Given the description of an element on the screen output the (x, y) to click on. 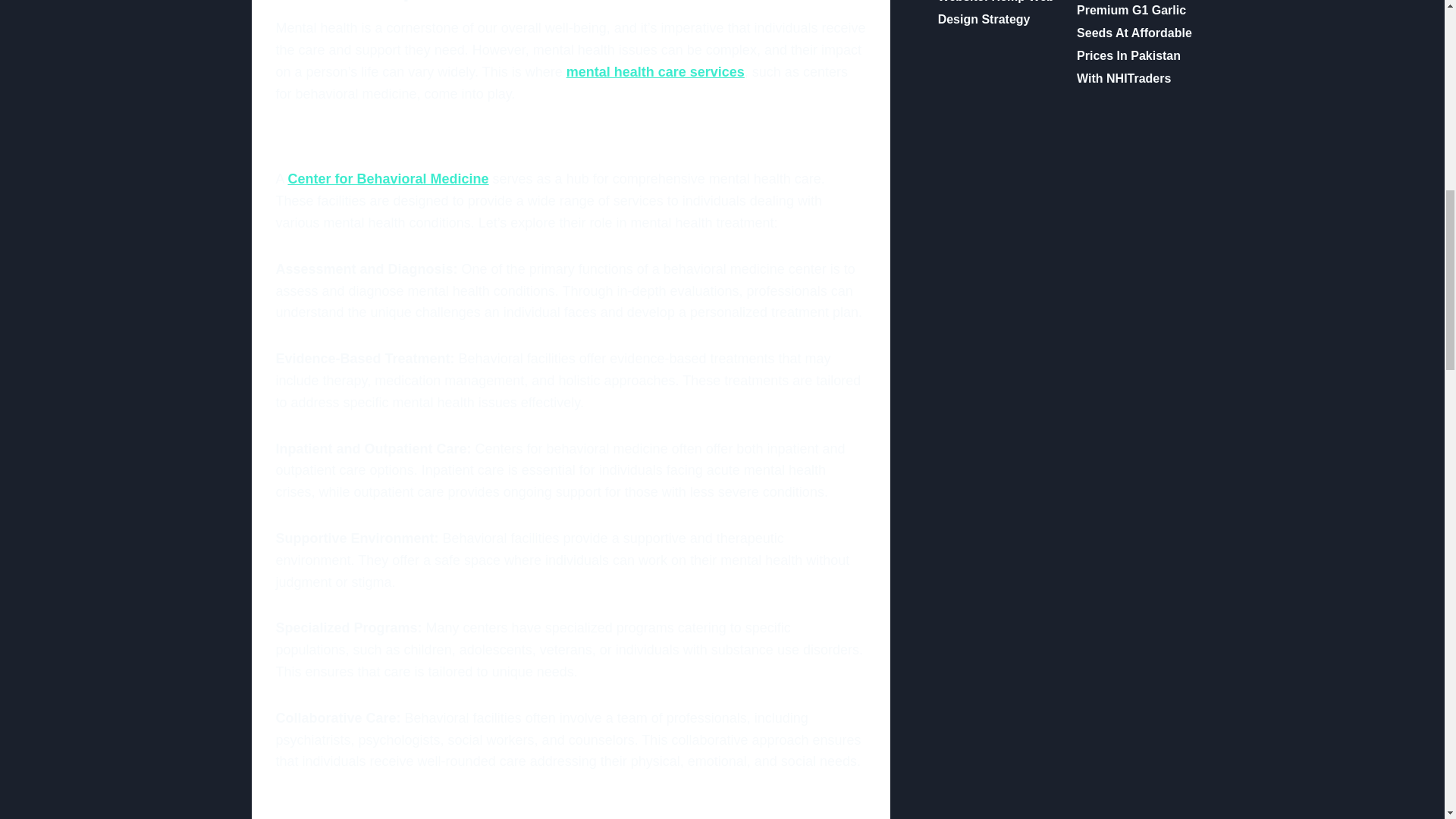
mental health care services (655, 71)
Center for Behavioral Medicine (388, 178)
